Given the description of an element on the screen output the (x, y) to click on. 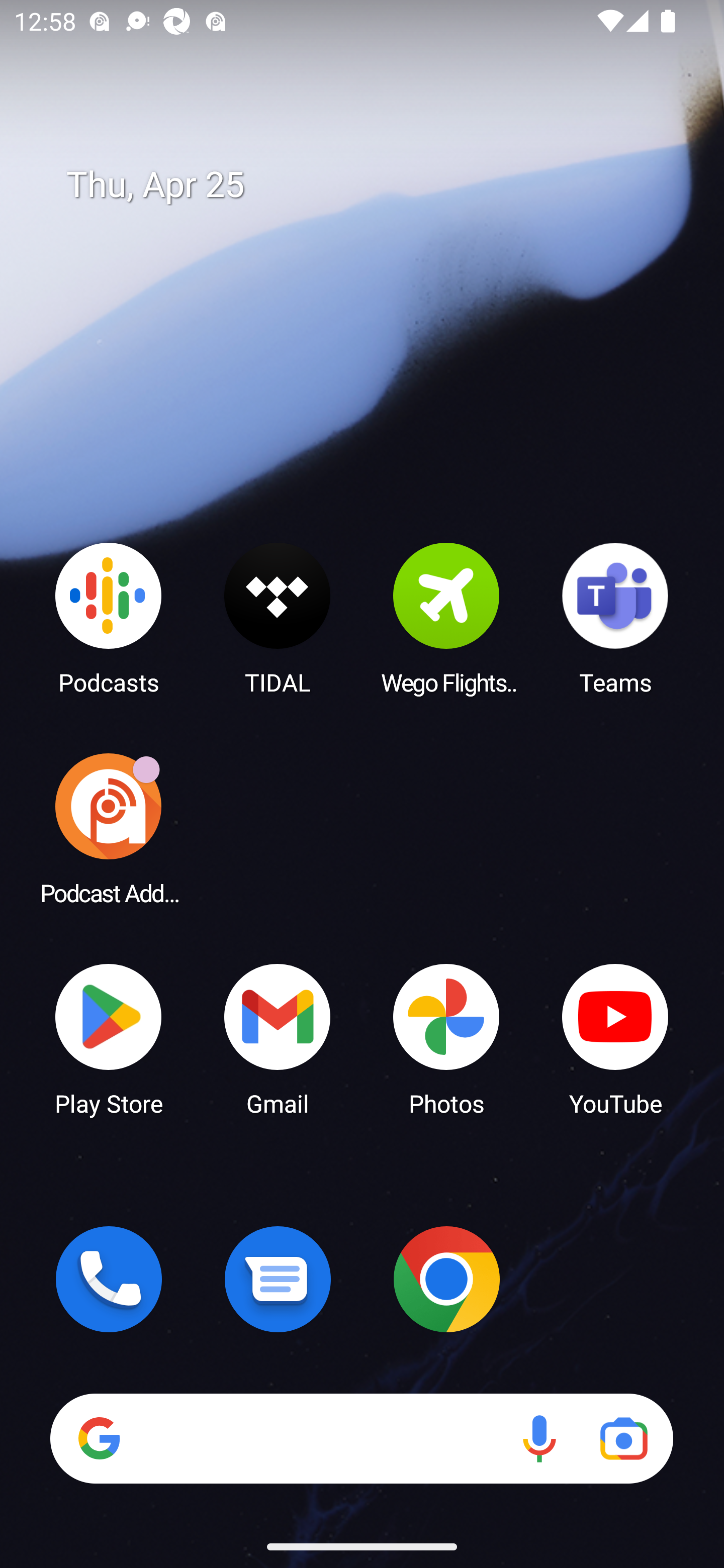
Thu, Apr 25 (375, 184)
Podcasts (108, 617)
TIDAL (277, 617)
Wego Flights & Hotels (445, 617)
Teams (615, 617)
Play Store (108, 1038)
Gmail (277, 1038)
Photos (445, 1038)
YouTube (615, 1038)
Phone (108, 1279)
Messages (277, 1279)
Chrome (446, 1279)
Search Voice search Google Lens (361, 1438)
Voice search (539, 1438)
Google Lens (623, 1438)
